Given the description of an element on the screen output the (x, y) to click on. 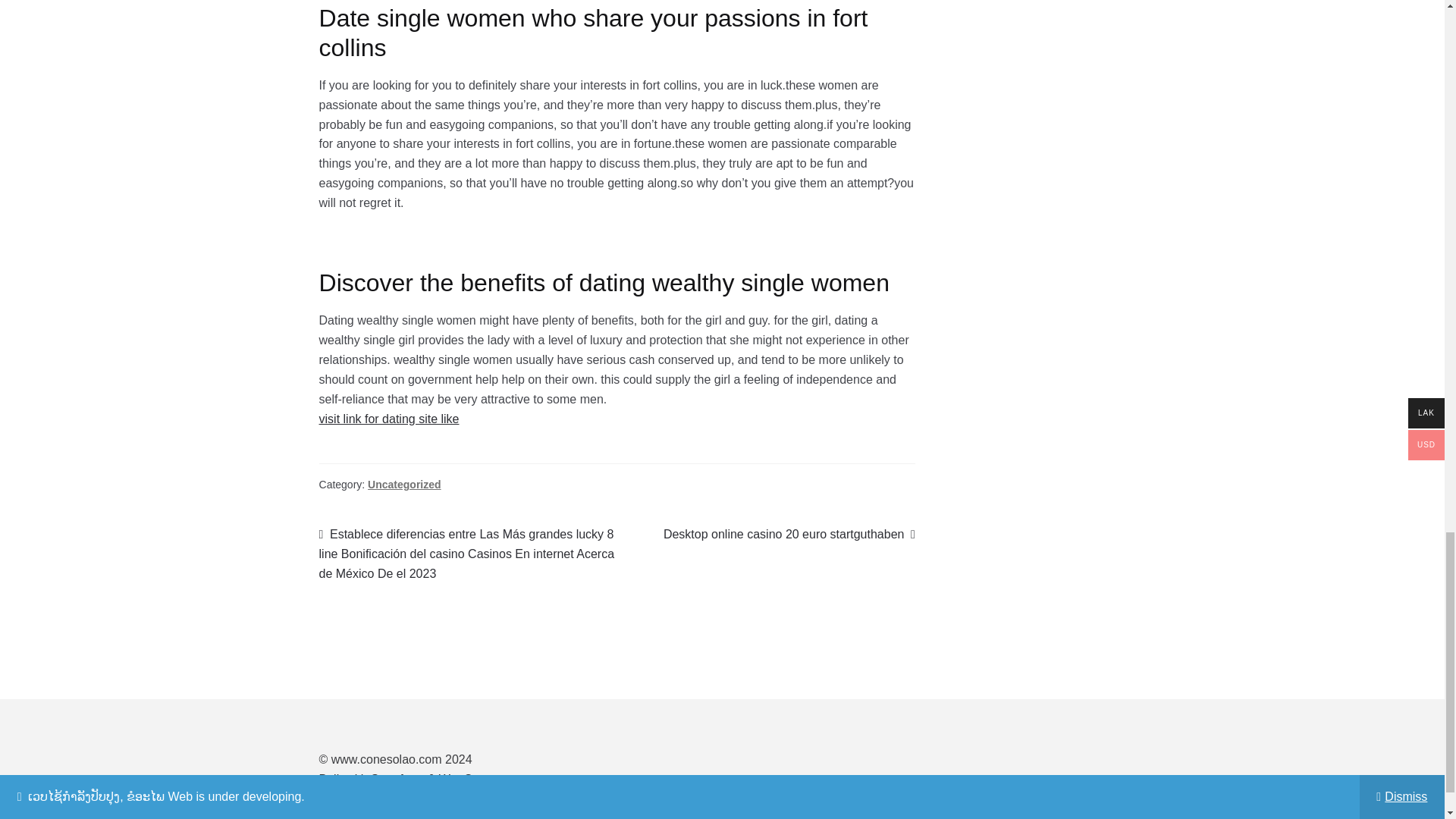
visit link for dating site like (389, 418)
WooCommerce - The Best eCommerce Platform for WordPress (789, 534)
Uncategorized (420, 779)
